Given the description of an element on the screen output the (x, y) to click on. 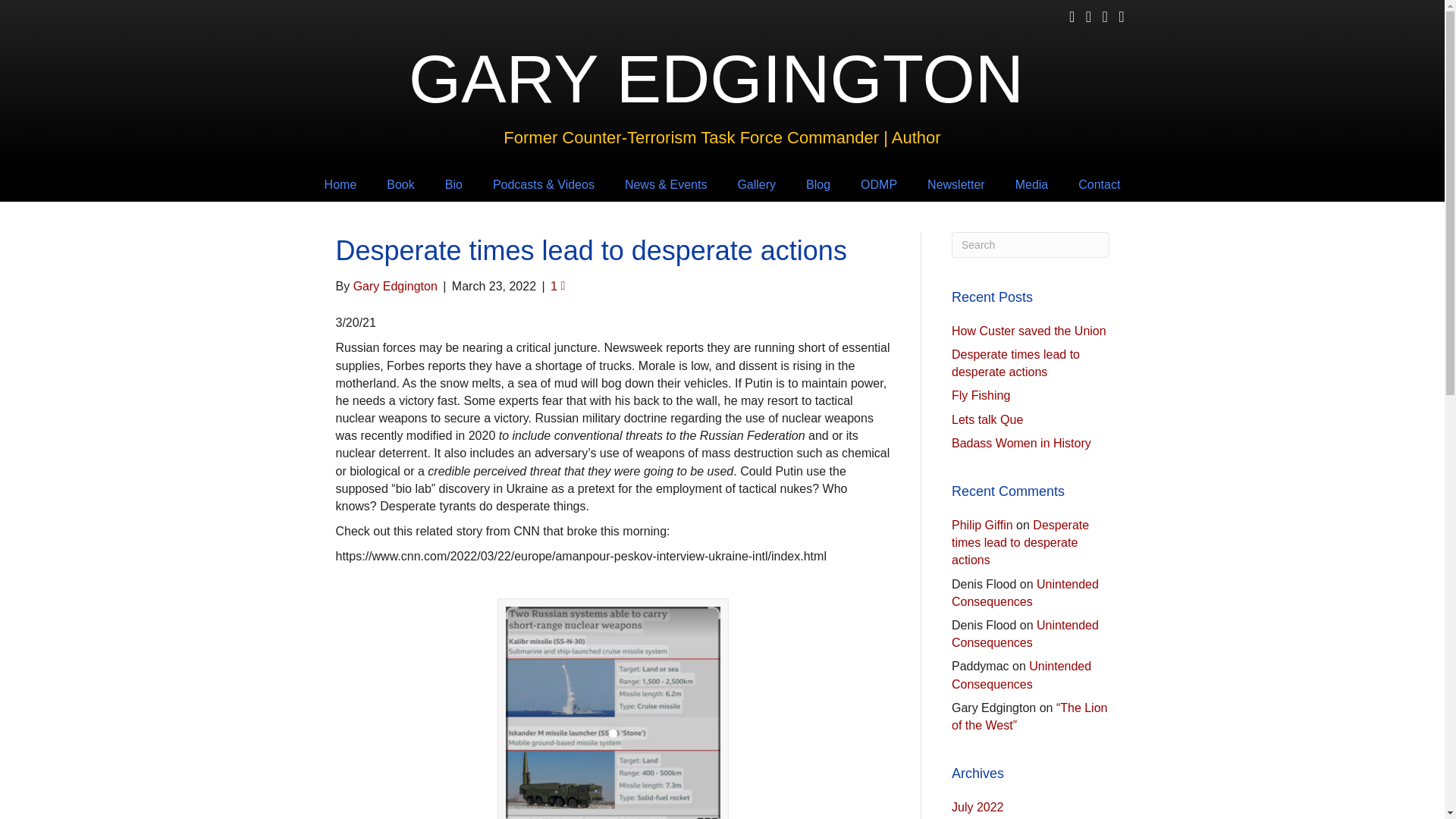
How Custer saved the Union (1029, 330)
Blog (817, 184)
Media (1032, 184)
Type and press Enter to search. (1030, 244)
ODMP (878, 184)
Home (340, 184)
Book (400, 184)
1 (557, 286)
Newsletter (956, 184)
Bio (453, 184)
Contact (1098, 184)
Unintended Consequences (1025, 634)
Lets talk Que (987, 419)
Unintended Consequences (1025, 593)
Desperate times lead to desperate actions (1016, 363)
